Given the description of an element on the screen output the (x, y) to click on. 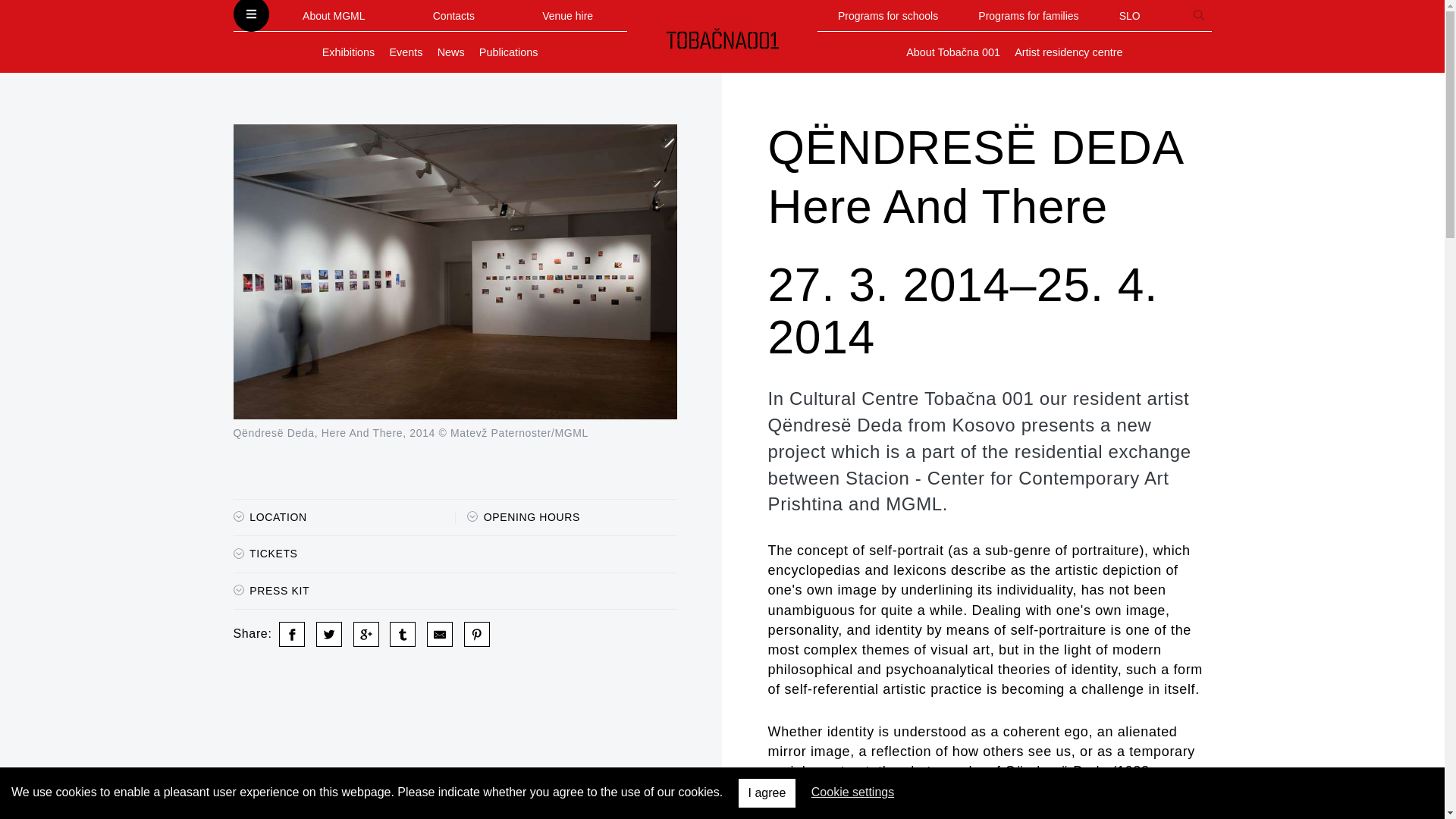
About MGML (332, 15)
Publications (507, 51)
Events (405, 51)
Open search (1198, 14)
Programs for schools (887, 15)
Open search (1198, 15)
Contacts (453, 15)
News (567, 15)
